Given the description of an element on the screen output the (x, y) to click on. 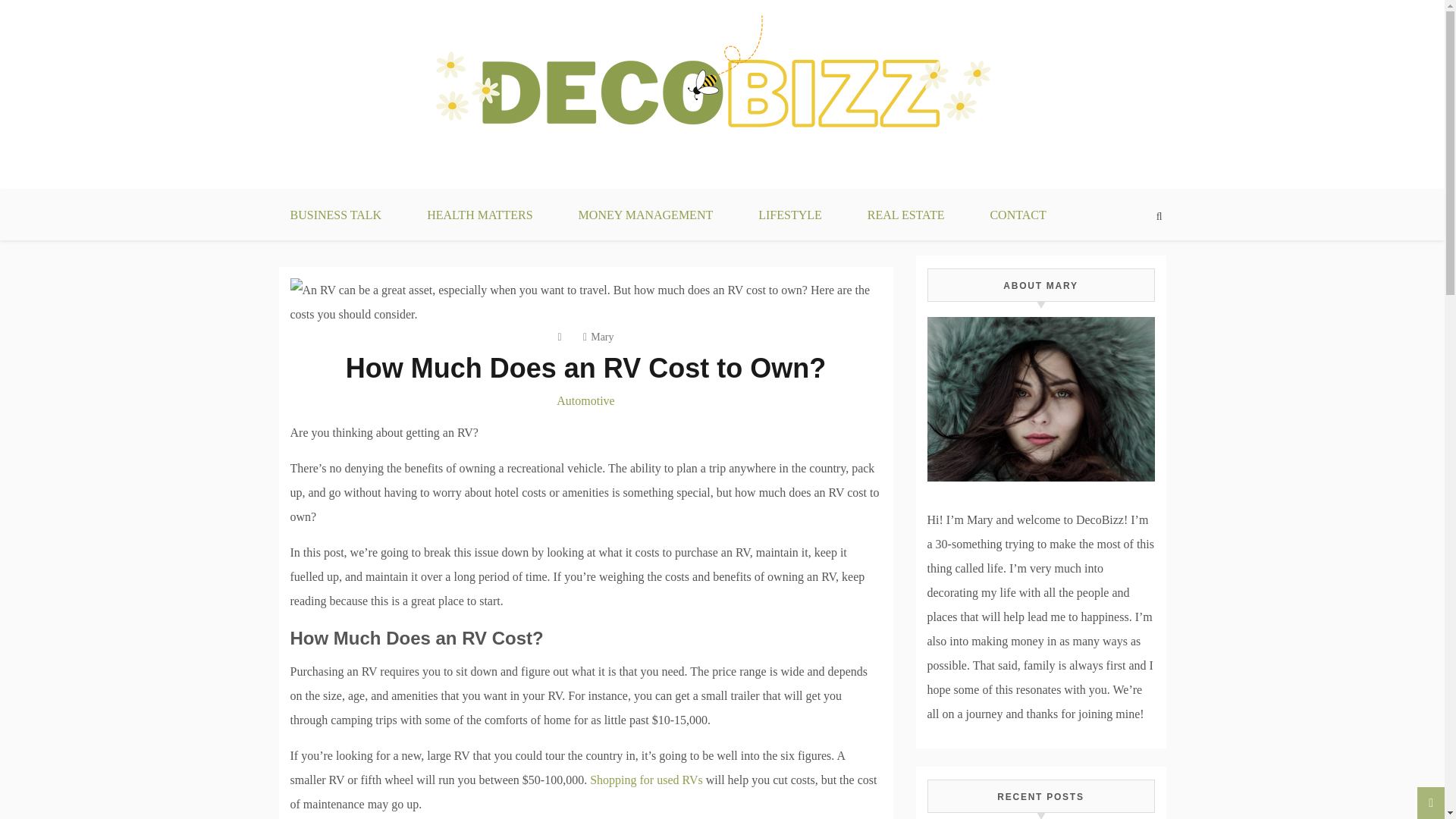
Search (12, 6)
Shopping for used RVs (646, 779)
LIFESTYLE (789, 215)
Automotive (585, 400)
MONEY MANAGEMENT (646, 215)
Mary (597, 337)
DecoBizz Lifestyle Blog (416, 198)
REAL ESTATE (906, 215)
HEALTH MATTERS (479, 215)
CONTACT (1017, 215)
